Given the description of an element on the screen output the (x, y) to click on. 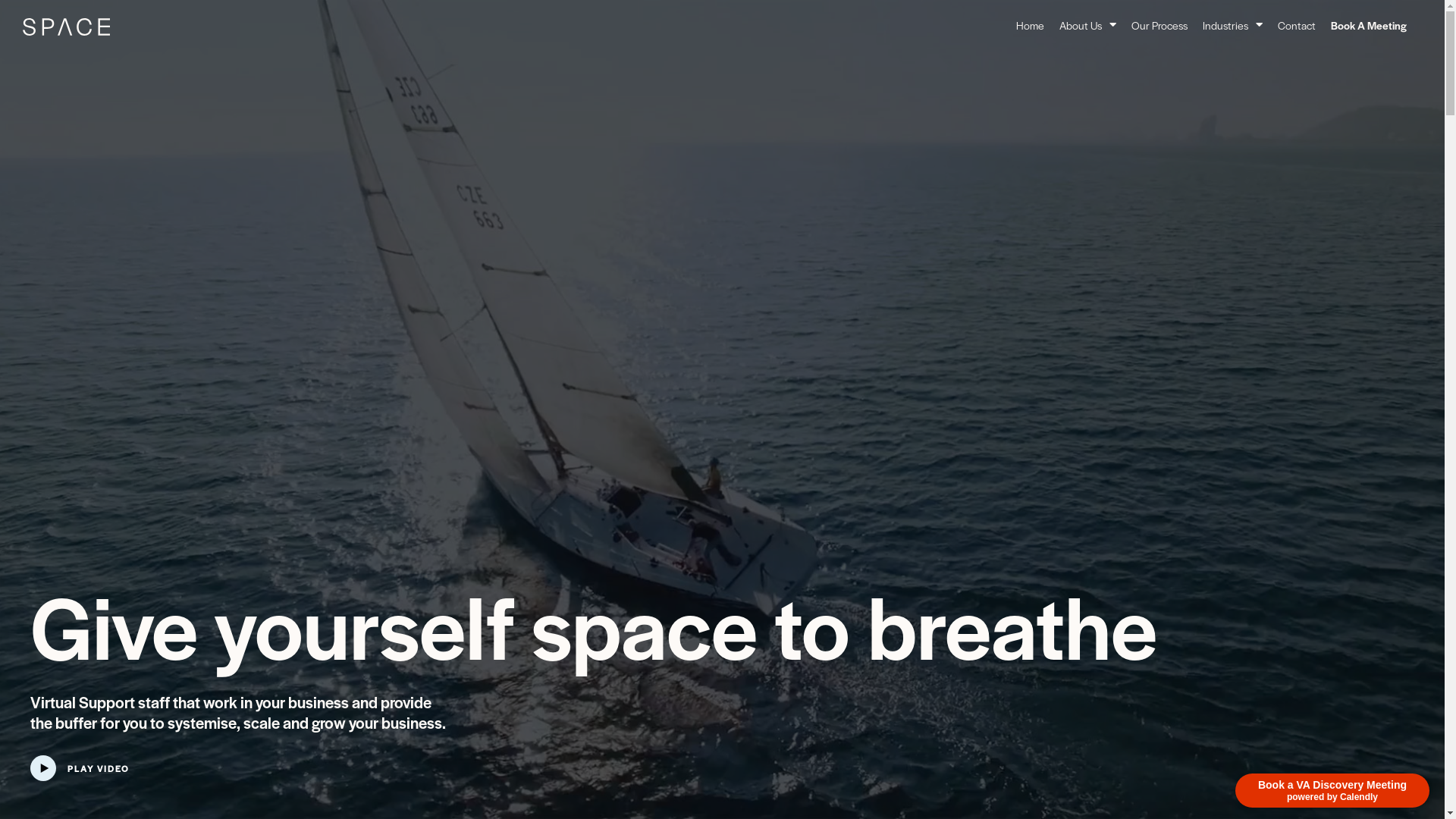
Home Element type: text (1029, 24)
About Us Element type: text (1087, 24)
PLAY VIDEO Element type: text (98, 767)
Industries Element type: text (1232, 24)
Contact Element type: text (1296, 24)
Book A Meeting Element type: text (1368, 24)
Our Process Element type: text (1159, 24)
